Given the description of an element on the screen output the (x, y) to click on. 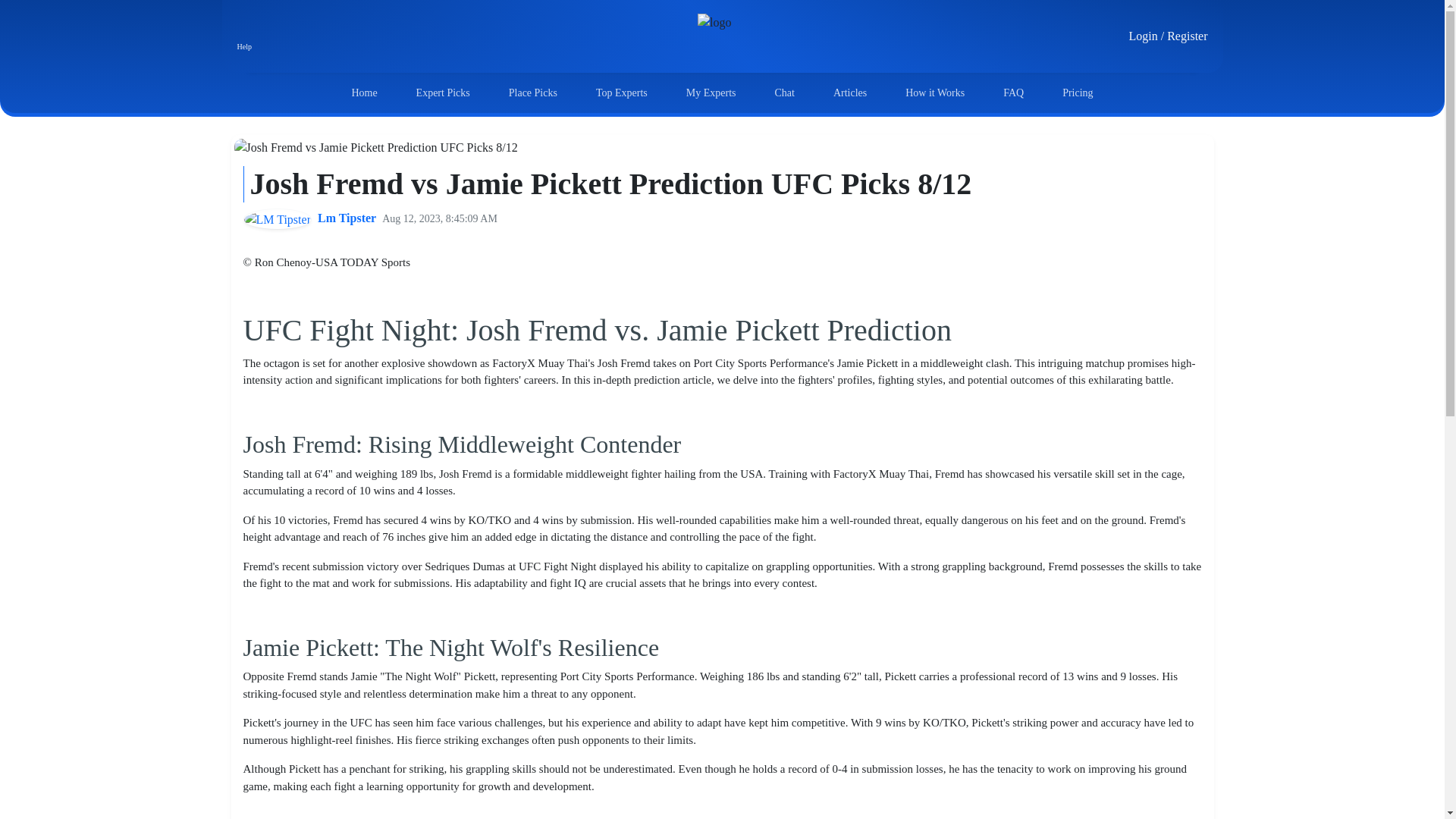
My Experts (710, 92)
Top Experts (621, 92)
Lm Tipster (346, 218)
FAQ (1013, 92)
Chat (783, 92)
How it Works (935, 92)
Articles (849, 92)
Pricing (1078, 92)
Home (363, 92)
Place Picks (532, 92)
Expert Picks (443, 92)
